Given the description of an element on the screen output the (x, y) to click on. 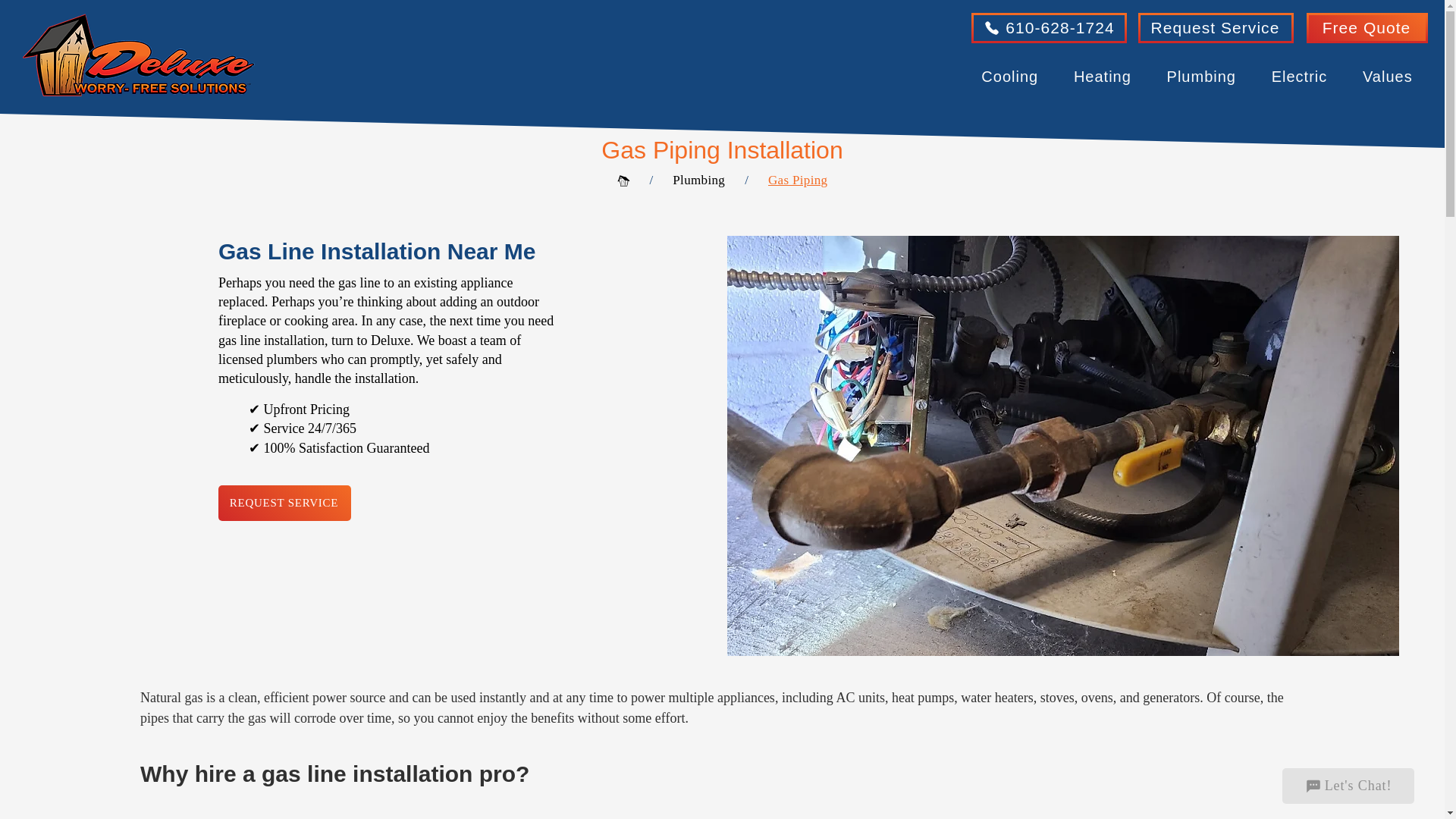
Request Service (1216, 28)
Free Quote (1367, 28)
610-628-1724 (1048, 28)
